Given the description of an element on the screen output the (x, y) to click on. 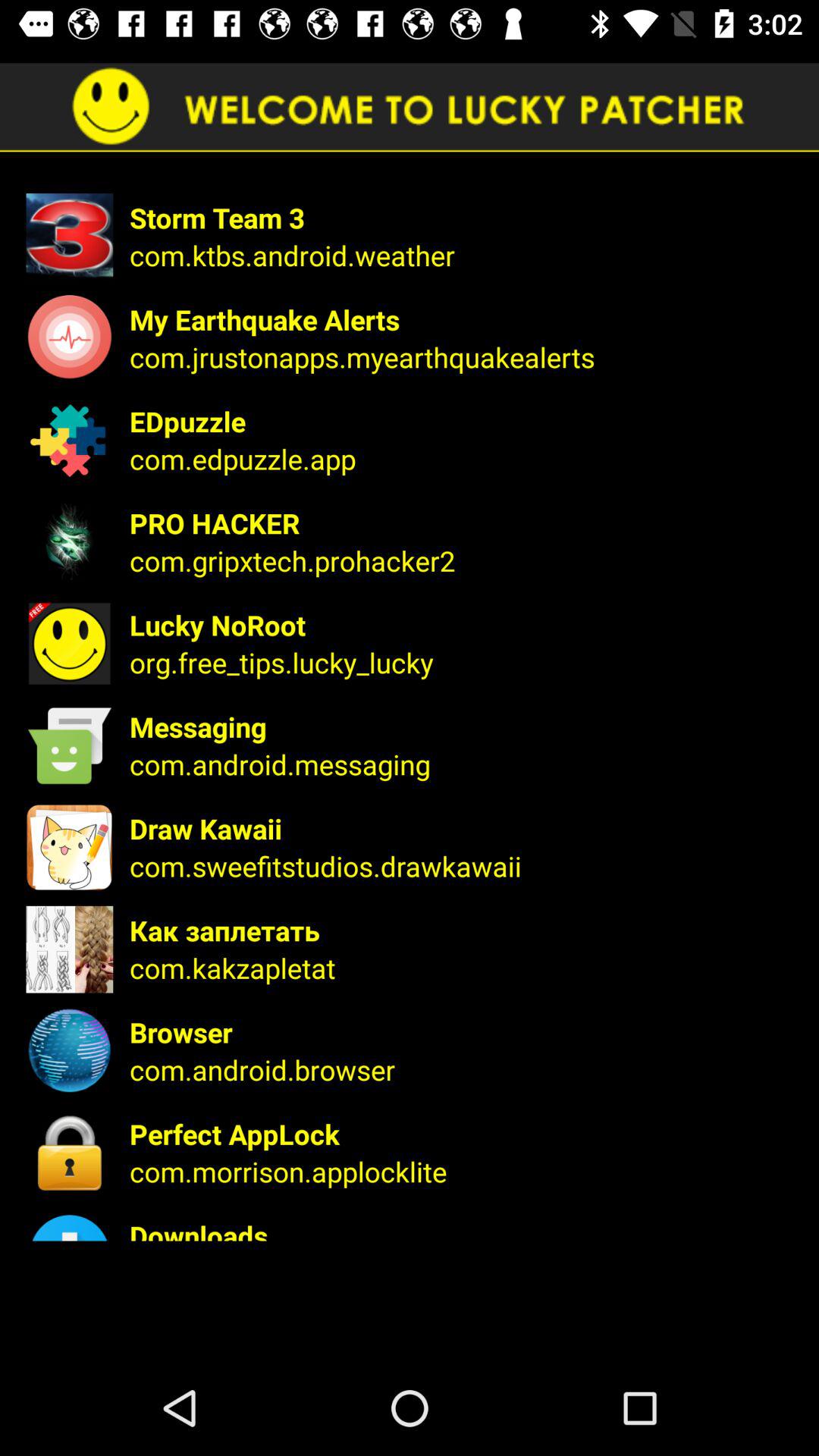
tap app below com.morrison.applocklite (464, 1229)
